Given the description of an element on the screen output the (x, y) to click on. 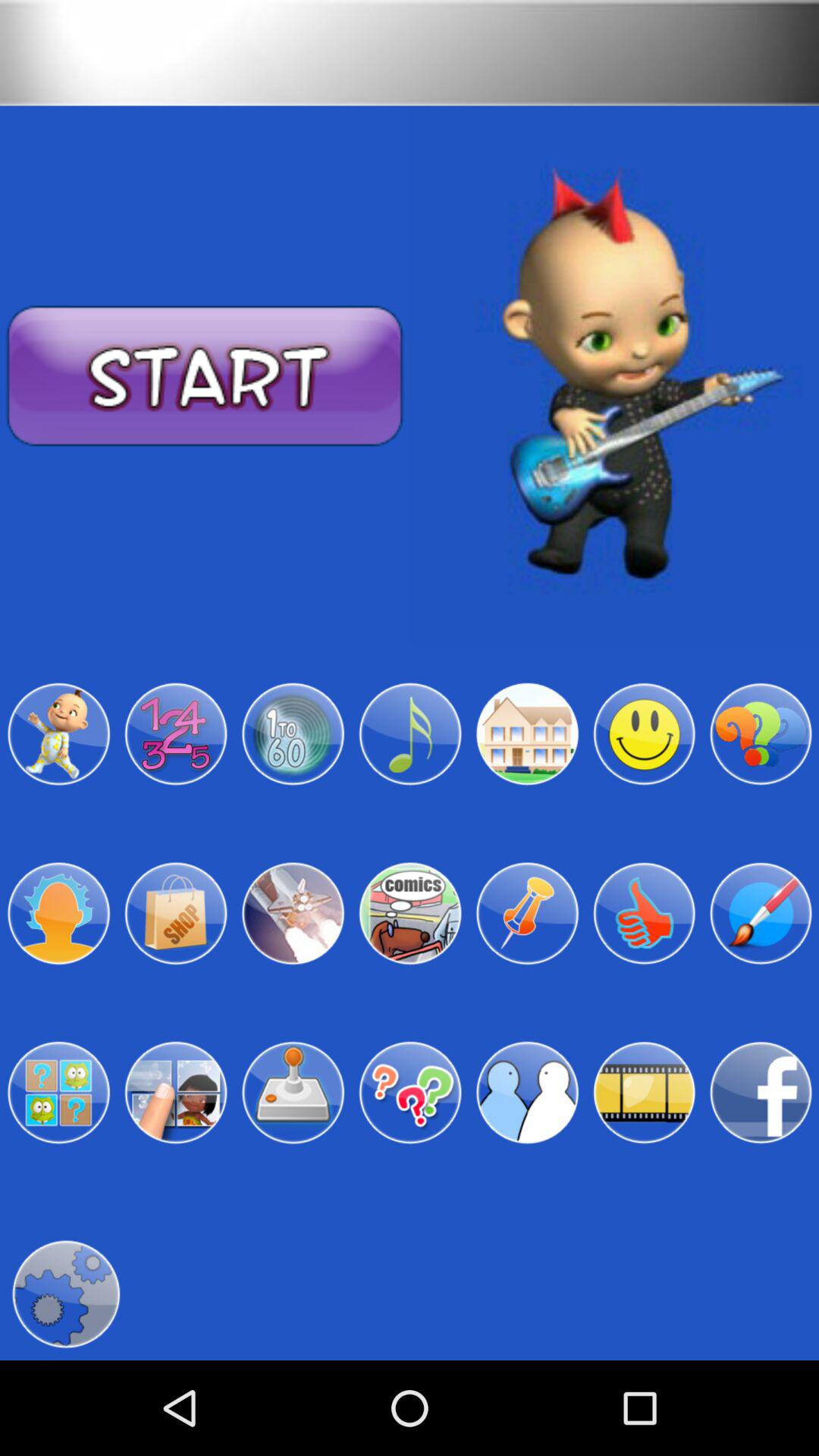
select video option (643, 1092)
